Given the description of an element on the screen output the (x, y) to click on. 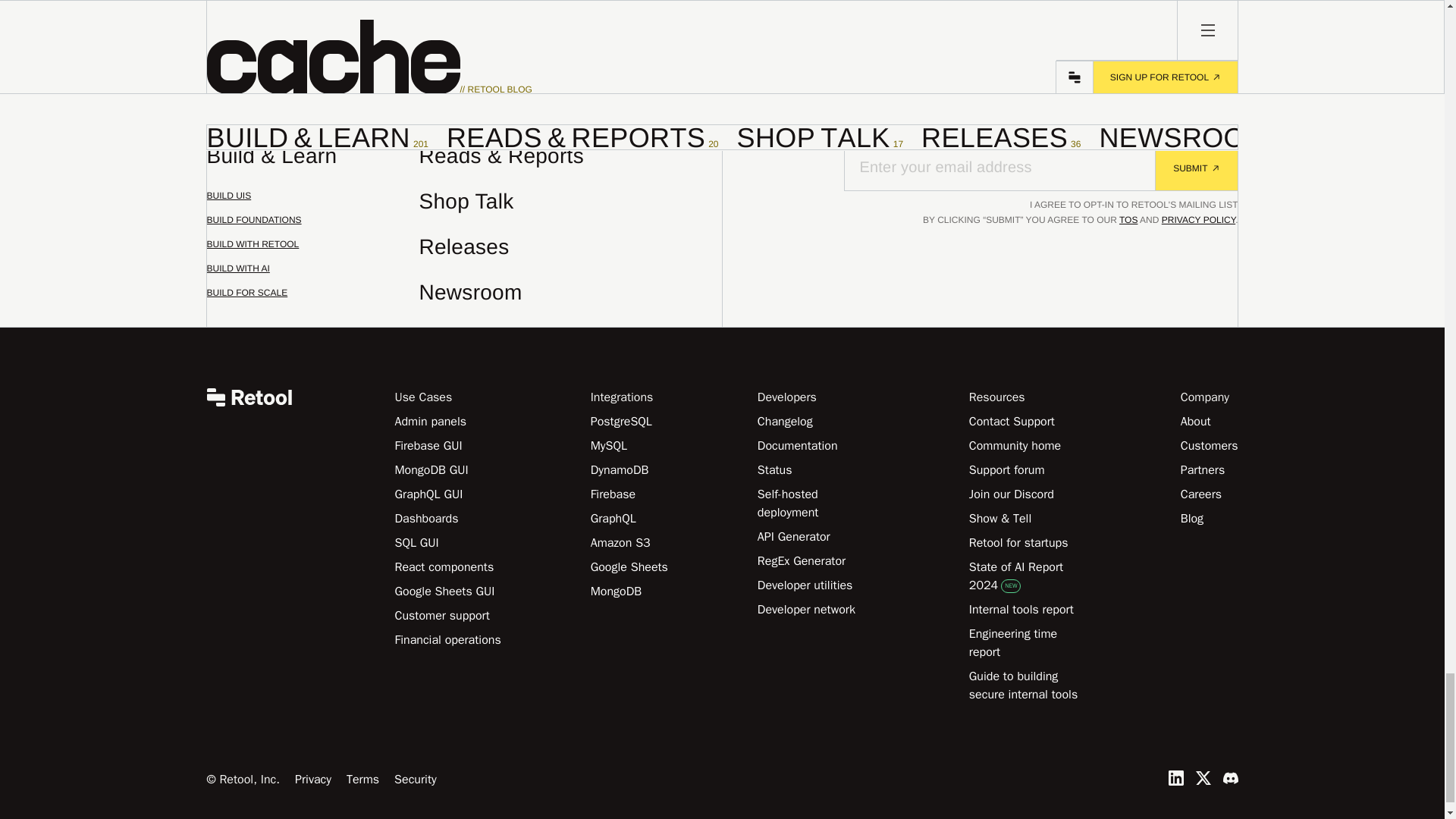
BUILD FOUNDATIONS (312, 227)
BUILD WITH RETOOL (638, 28)
BUILD FOR SCALE (312, 251)
BUILD UIS (312, 300)
BUILD WITH AI (312, 202)
